Given the description of an element on the screen output the (x, y) to click on. 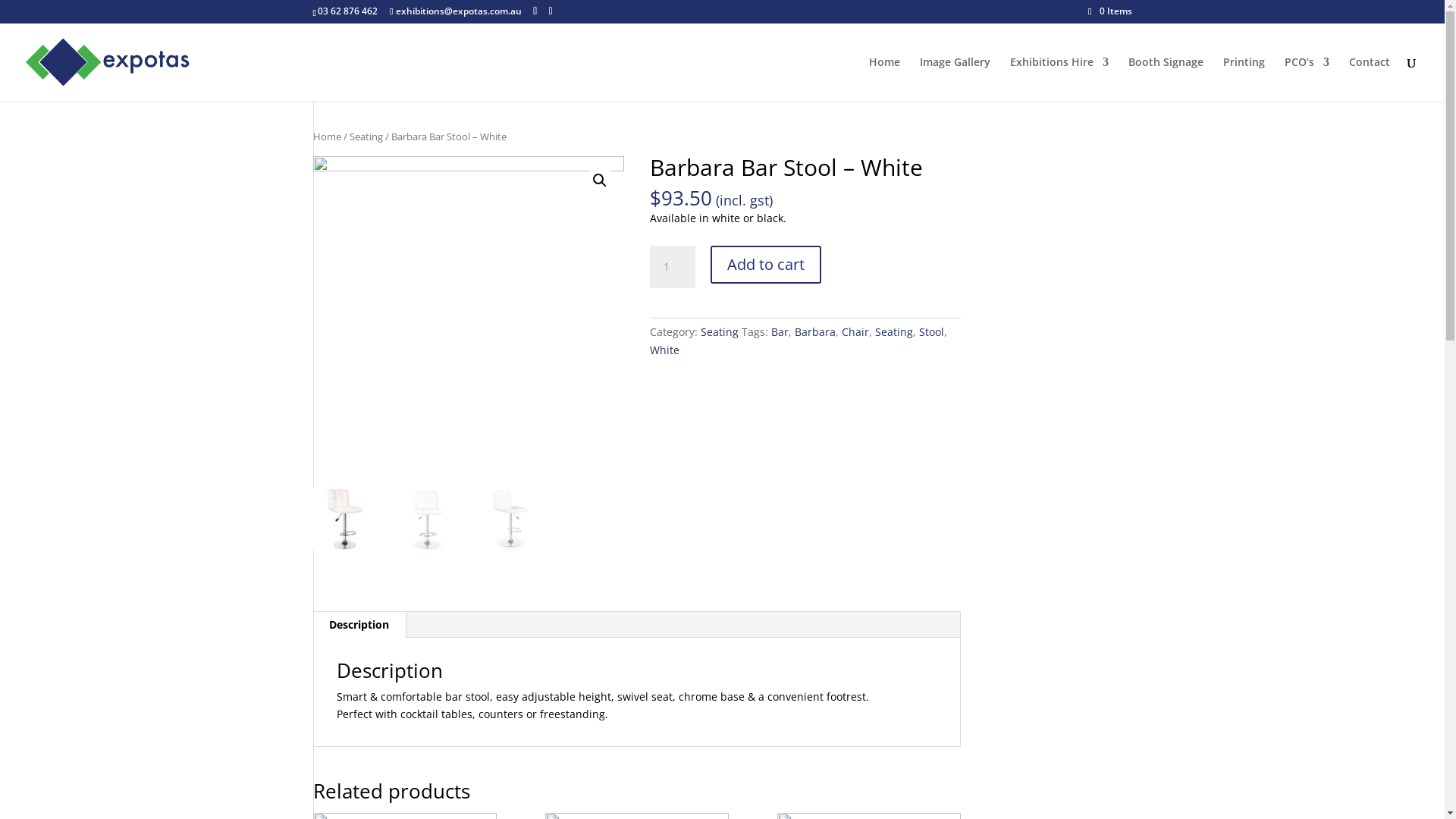
Image Gallery Element type: text (954, 78)
Printing Element type: text (1243, 78)
Booth Signage Element type: text (1165, 78)
Seating Element type: text (894, 331)
Seating Element type: text (719, 331)
White Element type: text (664, 349)
Stool Element type: text (931, 331)
Exhibitions Hire Element type: text (1059, 78)
0 Items Element type: text (1109, 10)
exhibitions@expotas.com.au Element type: text (455, 10)
Home Element type: text (884, 78)
Qty Element type: hover (672, 266)
Seating Element type: text (365, 136)
White Barbera _300px Element type: hover (467, 311)
Bar Element type: text (779, 331)
Barbara Element type: text (814, 331)
Contact Element type: text (1369, 78)
Chair Element type: text (855, 331)
Description Element type: text (358, 624)
Add to cart Element type: text (765, 264)
Home Element type: text (326, 136)
